Given the description of an element on the screen output the (x, y) to click on. 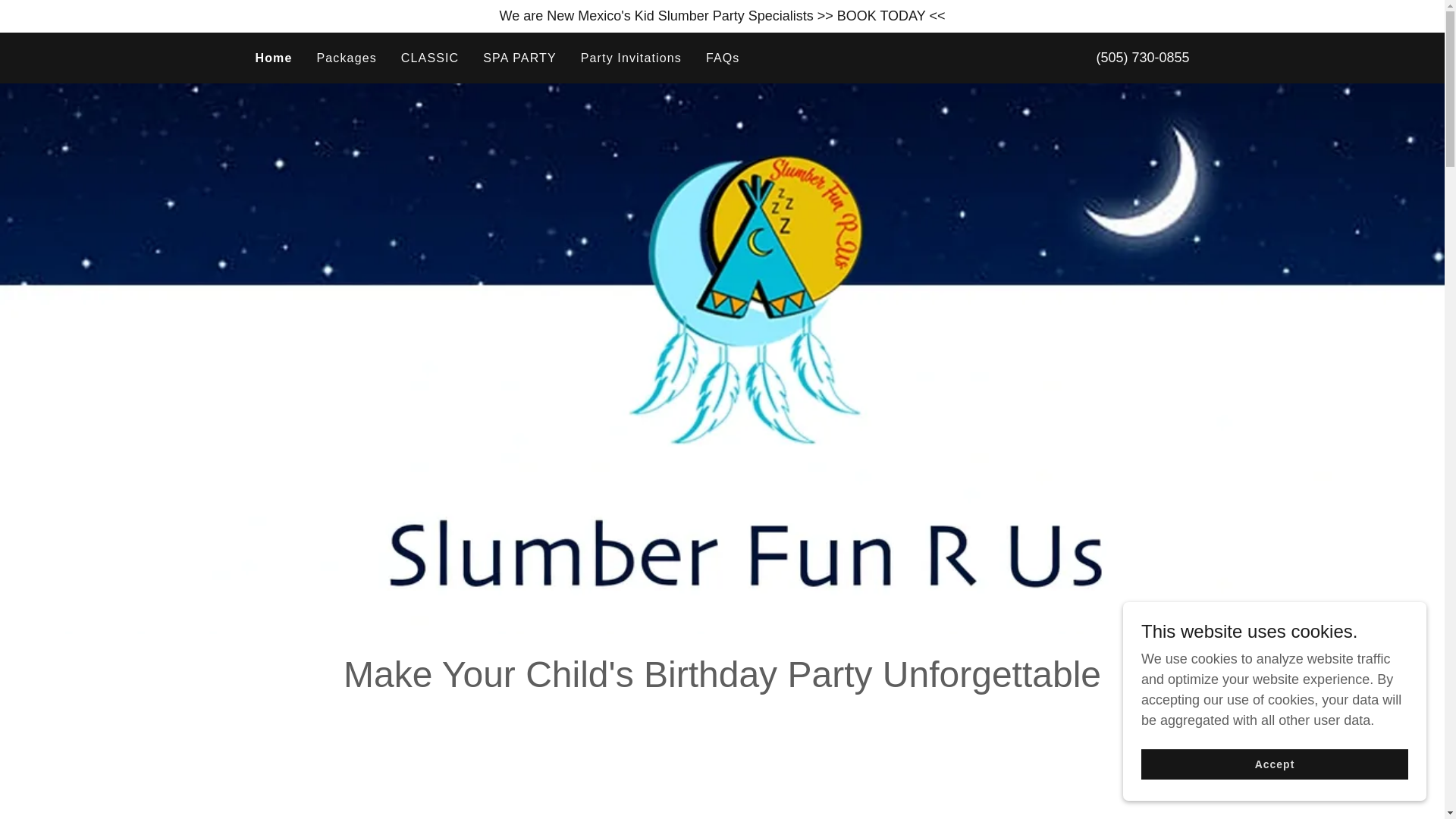
Packages (347, 57)
Party Invitations (630, 57)
FAQs (722, 57)
CLASSIC (429, 57)
SPA PARTY (519, 57)
Home (273, 57)
